Given the description of an element on the screen output the (x, y) to click on. 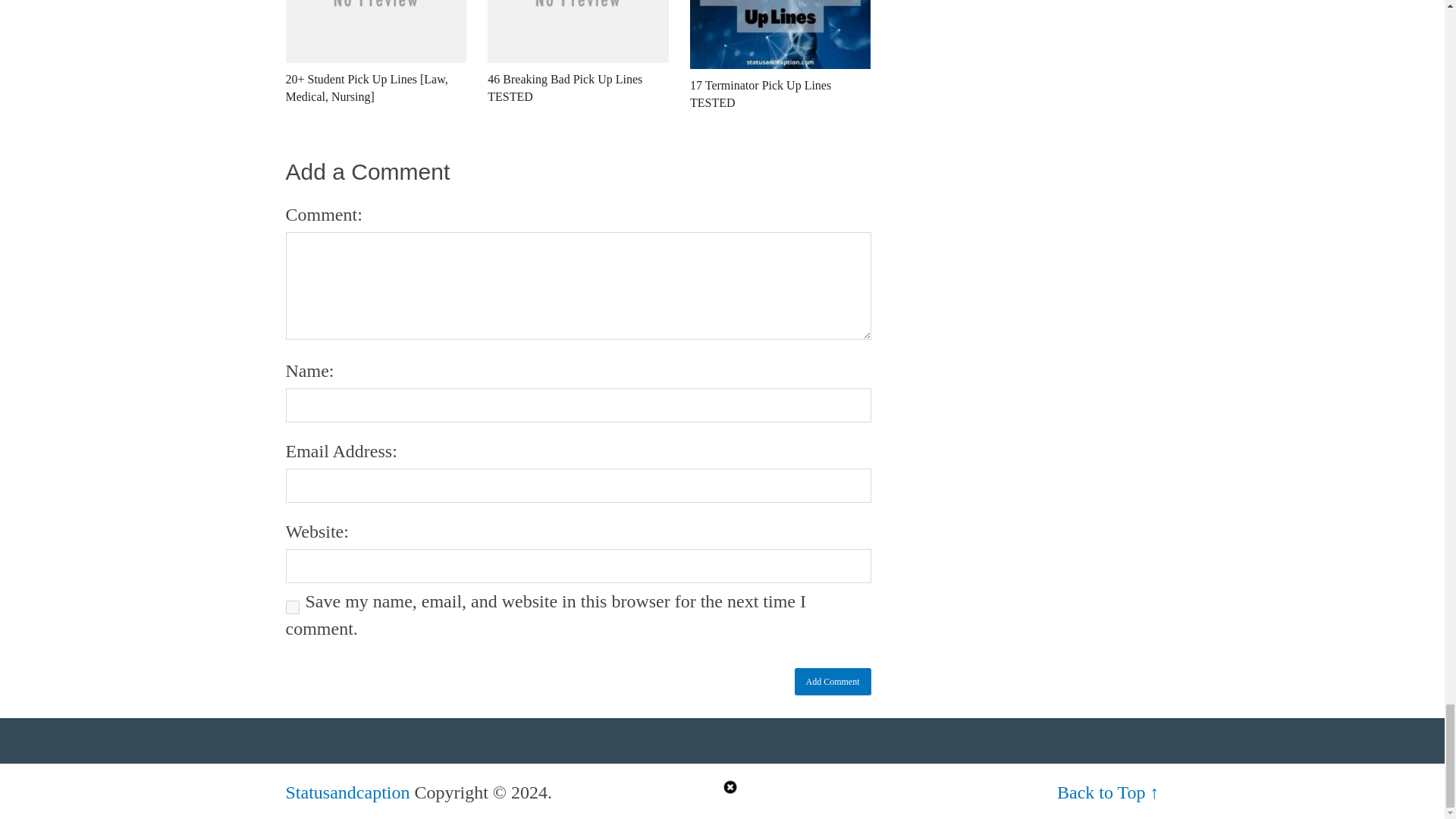
17 Terminator Pick Up Lines TESTED (780, 65)
yes (291, 607)
Add Comment (832, 681)
Pick up lines, best quotes, captions and status (347, 792)
46 Breaking Bad Pick Up Lines TESTED (577, 61)
